Given the description of an element on the screen output the (x, y) to click on. 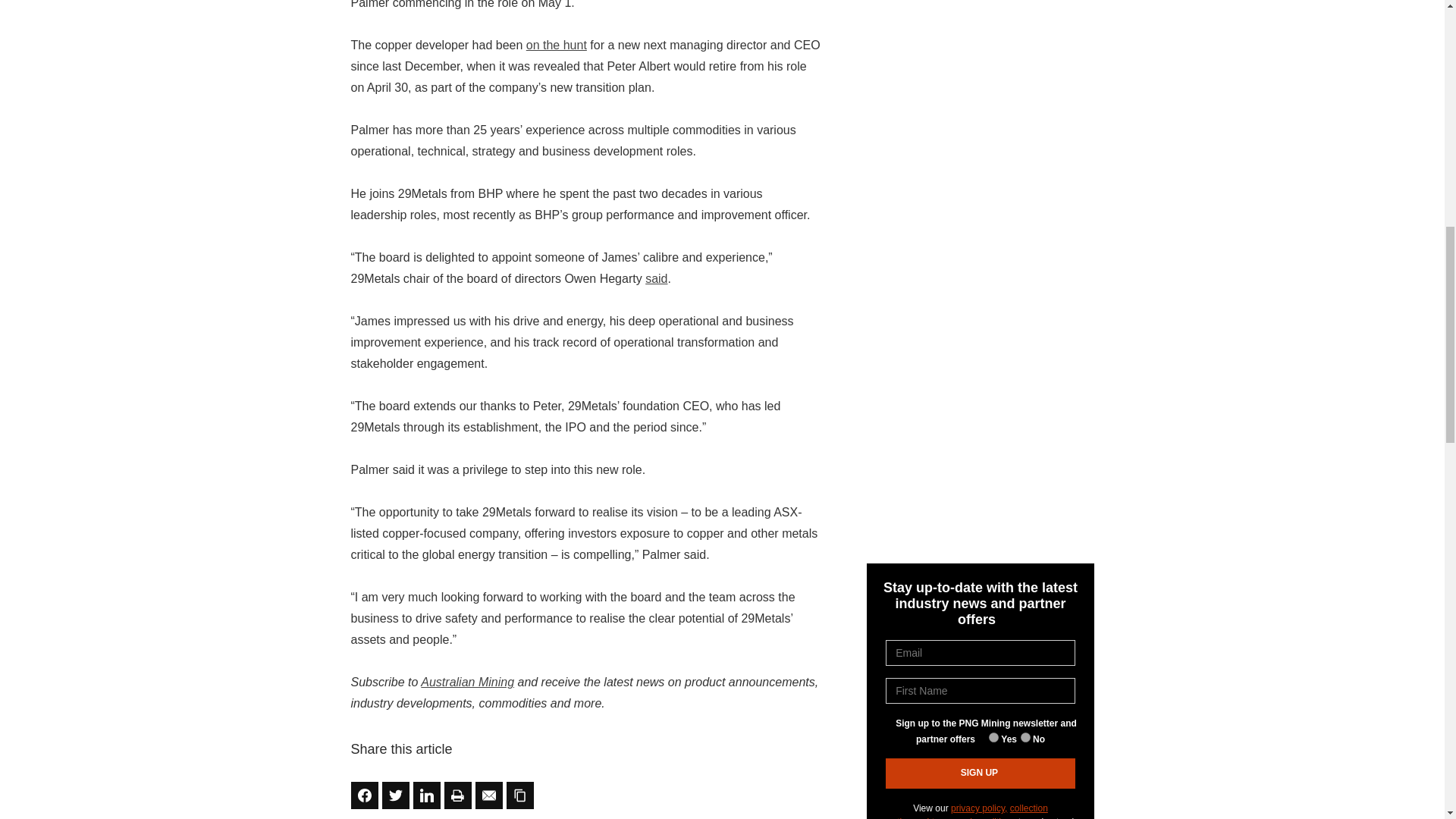
Share on Twitter (395, 795)
Share on Facebook (363, 795)
Share on Email (488, 795)
Share on LinkedIn (425, 795)
Share on Print (457, 795)
